Given the description of an element on the screen output the (x, y) to click on. 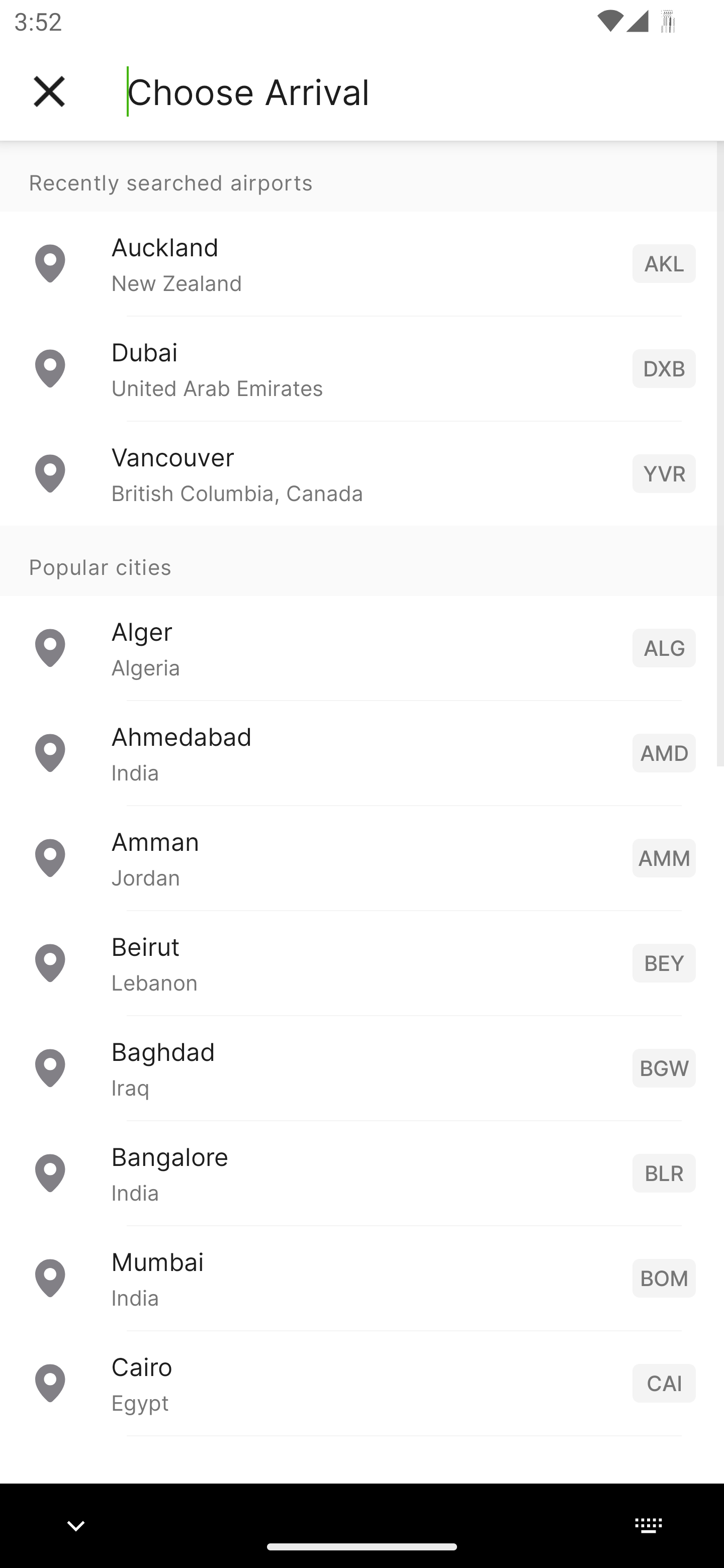
Choose Arrival (247, 91)
Recently searched airports (362, 176)
Dubai United Arab Emirates DXB (362, 367)
Vancouver British Columbia, Canada YVR (362, 472)
Popular cities Alger Algeria ALG (362, 612)
Popular cities (362, 560)
Ahmedabad India AMD (362, 751)
Amman Jordan AMM (362, 856)
Beirut Lebanon BEY (362, 961)
Baghdad Iraq BGW (362, 1066)
Bangalore India BLR (362, 1171)
Mumbai India BOM (362, 1276)
Cairo Egypt CAI (362, 1381)
